Given the description of an element on the screen output the (x, y) to click on. 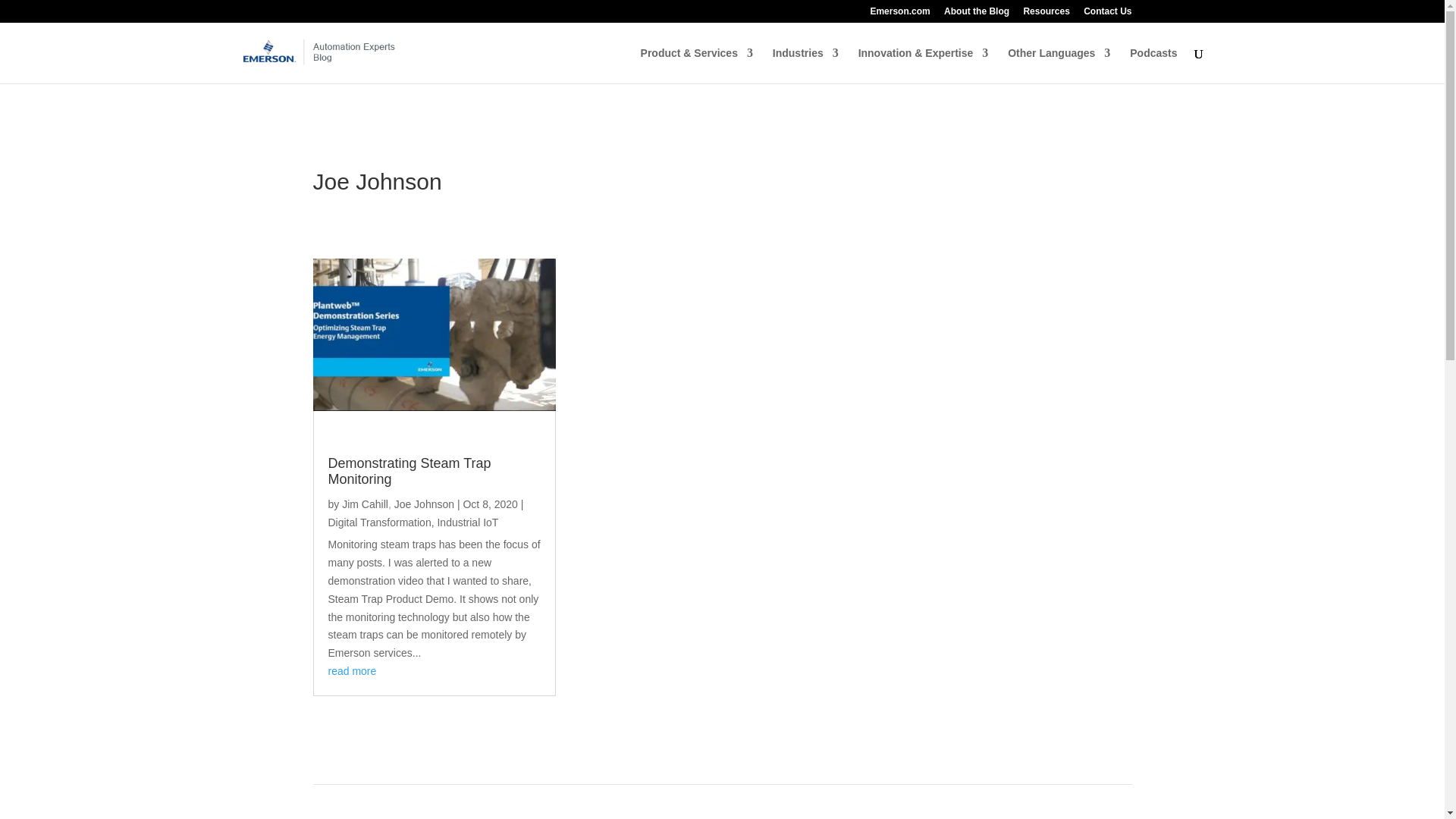
Industries (805, 65)
Posts by Joe Johnson (424, 503)
About the Blog (976, 14)
Posts by Jim Cahill (365, 503)
Contact Us (1107, 14)
Resources (1045, 14)
Emerson.com (899, 14)
